Given the description of an element on the screen output the (x, y) to click on. 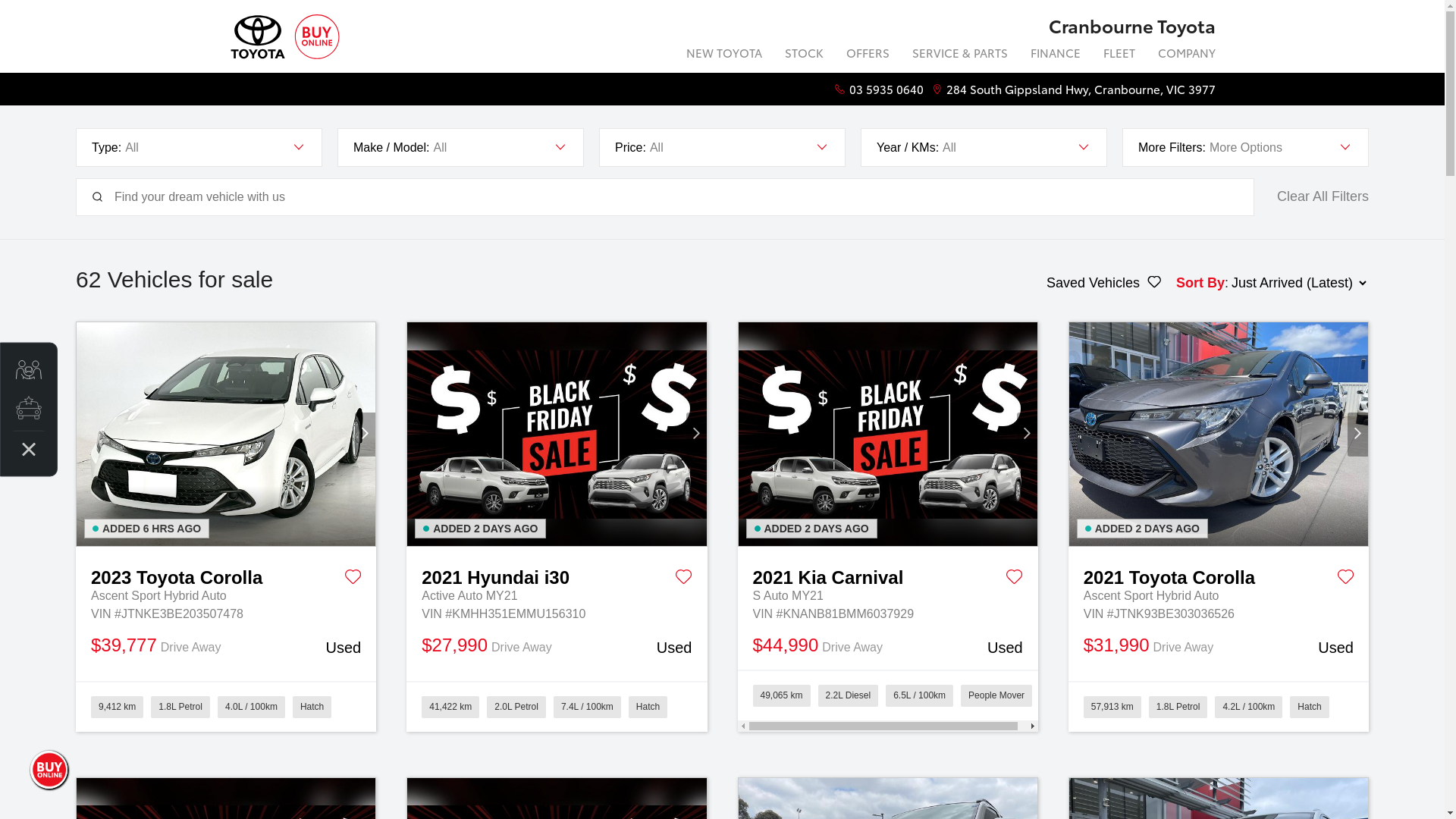
FINANCE Element type: text (1055, 54)
OFFERS Element type: text (867, 54)
NEW TOYOTA Element type: text (723, 54)
2023 Toyota Corolla Ascent Sport Hybrid Auto Element type: hover (225, 434)
$39,777
Drive Away
Used Element type: text (225, 646)
2021 Kia Carnival
S Auto MY21
VIN #KNANB81BMM6037929 Element type: text (887, 584)
57,913 km
1.8L Petrol
4.2L / 100km
Hatch Element type: text (1218, 705)
Saved Vehicles Element type: text (1103, 282)
2021 Kia Carnival S Auto MY21 Element type: hover (887, 434)
FLEET Element type: text (1119, 54)
284 South Gippsland Hwy, Cranbourne, VIC 3977 Element type: text (1080, 88)
03 5935 0640 Element type: text (886, 88)
49,065 km
2.2L Diesel
6.5L / 100km
People Mover Element type: text (887, 700)
$27,990
Drive Away
Used Element type: text (556, 646)
COMPANY Element type: text (1180, 54)
9,412 km
1.8L Petrol
4.0L / 100km
Hatch Element type: text (225, 705)
$31,990
Drive Away
Used Element type: text (1218, 646)
Save Vehicle Element type: hover (683, 579)
2021 Hyundai i30 Active Auto MY21 Element type: hover (556, 434)
$44,990
Drive Away
Used Element type: text (887, 646)
Save Vehicle Element type: hover (1344, 579)
2021 Toyota Corolla Ascent Sport Hybrid Auto Element type: hover (1218, 434)
STOCK Element type: text (803, 54)
Save Vehicle Element type: hover (1013, 579)
Clear All Filters Element type: text (1322, 196)
Save Vehicle Element type: hover (352, 579)
2021 Hyundai i30
Active Auto MY21
VIN #KMHH351EMMU156310 Element type: text (556, 584)
41,422 km
2.0L Petrol
7.4L / 100km
Hatch Element type: text (556, 705)
SERVICE & PARTS Element type: text (959, 54)
